Given the description of an element on the screen output the (x, y) to click on. 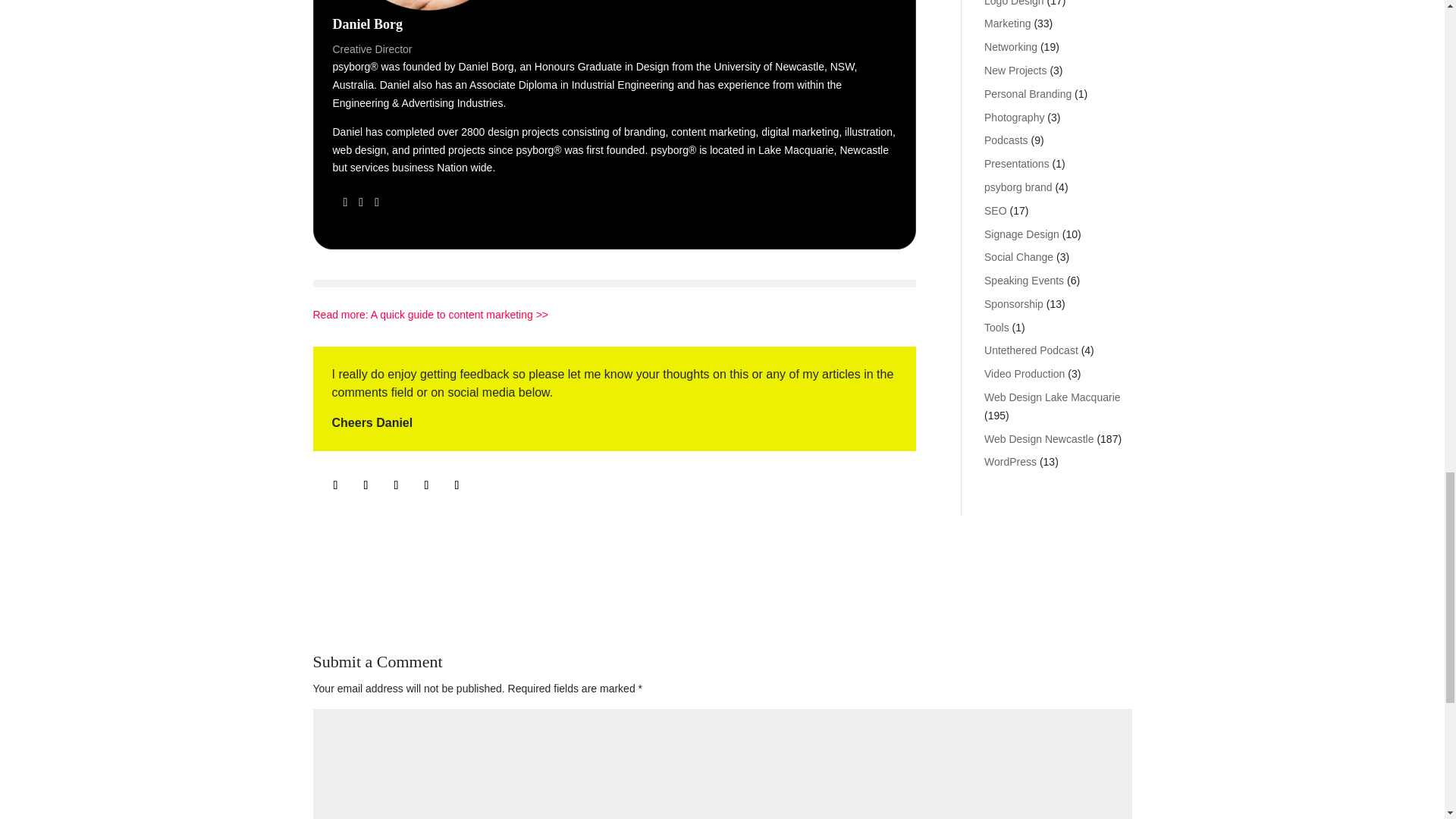
Follow on Youtube (425, 485)
Follow on LinkedIn (395, 485)
Follow on Instagram (335, 485)
Follow on Facebook (365, 485)
Follow on RSS (456, 485)
